Given the description of an element on the screen output the (x, y) to click on. 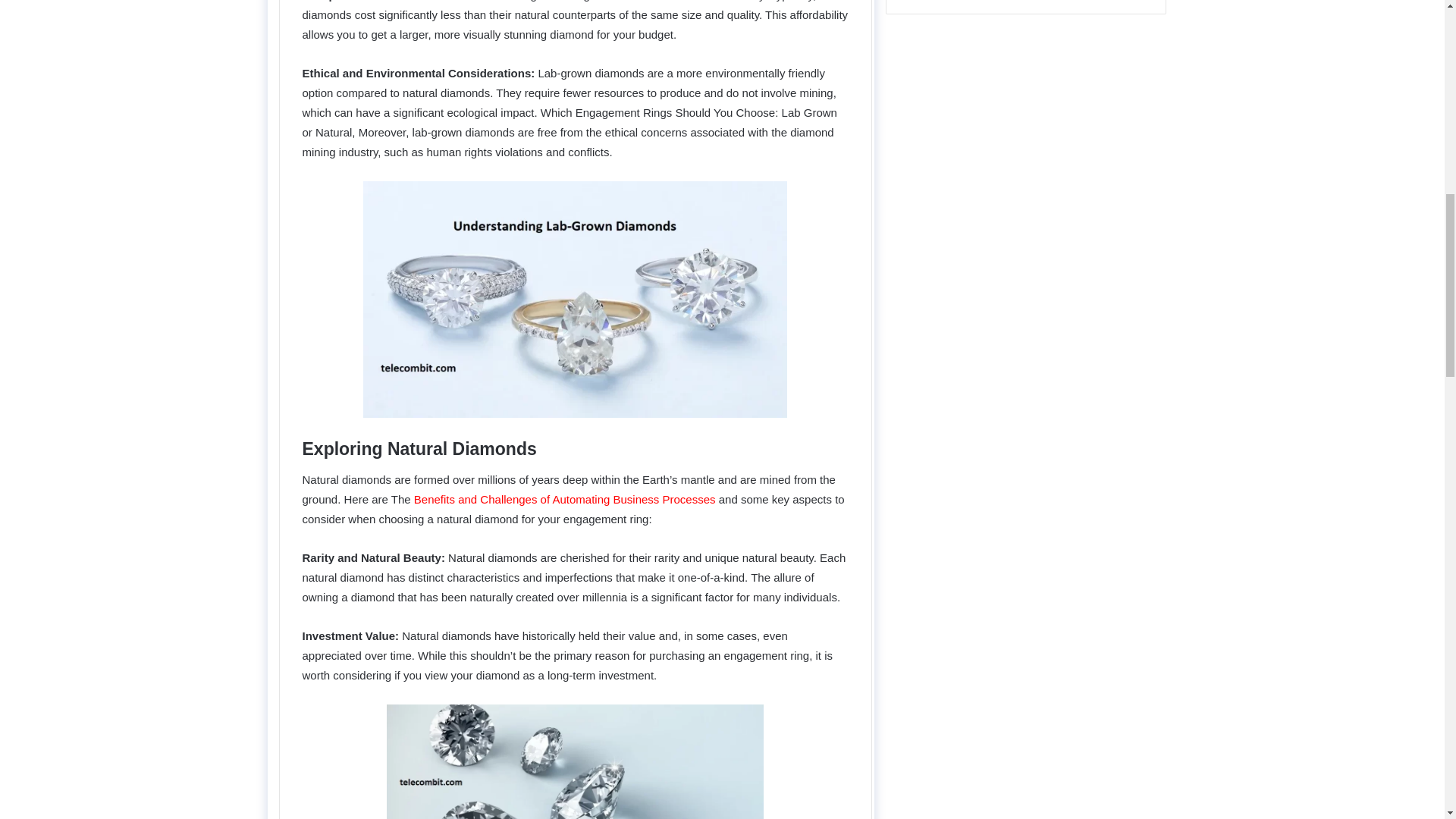
Benefits and Challenges of Automating Business Processes (566, 499)
